Given the description of an element on the screen output the (x, y) to click on. 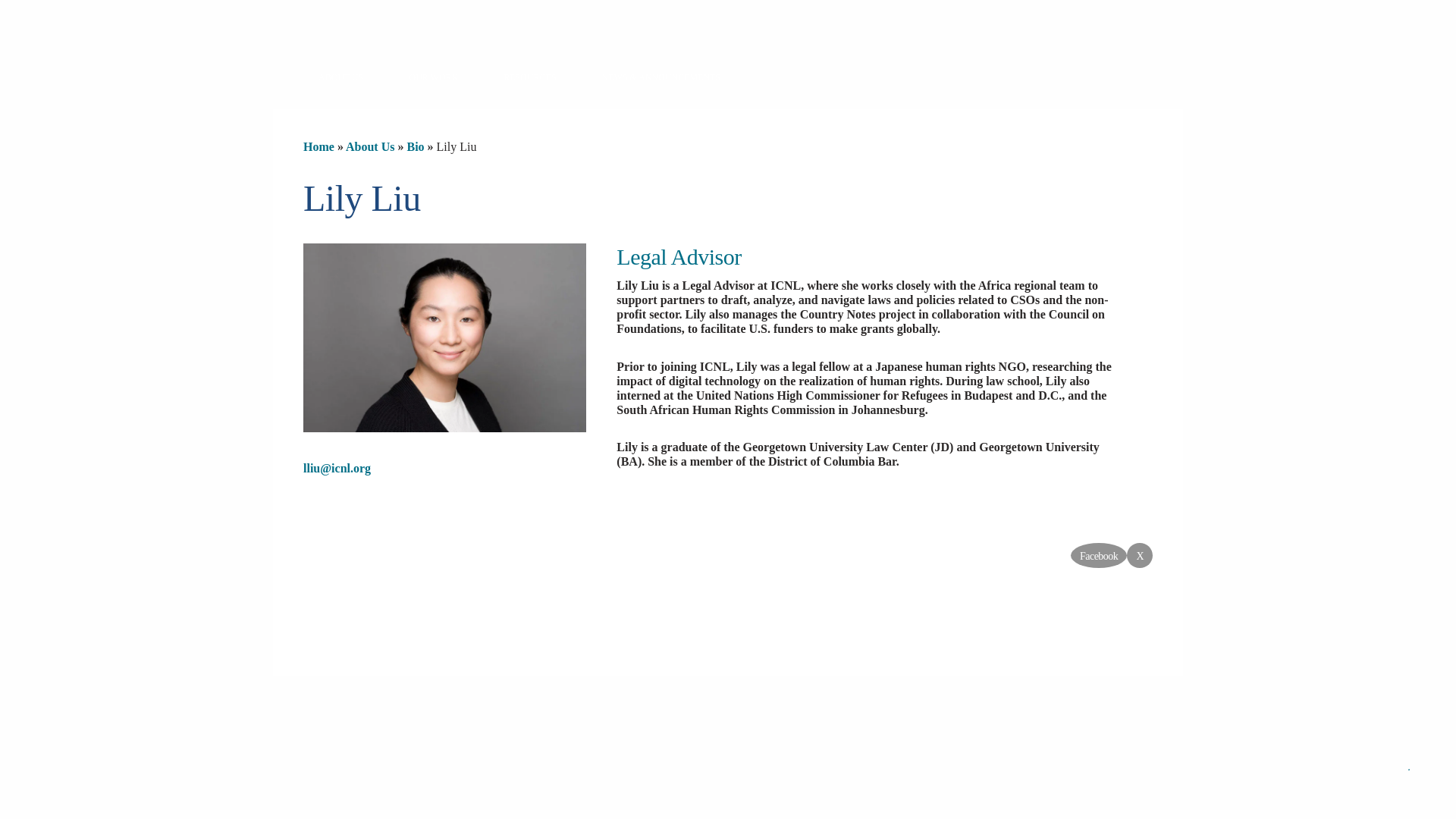
OUR WORK (436, 78)
RESOURCES (531, 78)
ABOUT US (343, 78)
Search (1134, 28)
ICNL (397, 35)
